Given the description of an element on the screen output the (x, y) to click on. 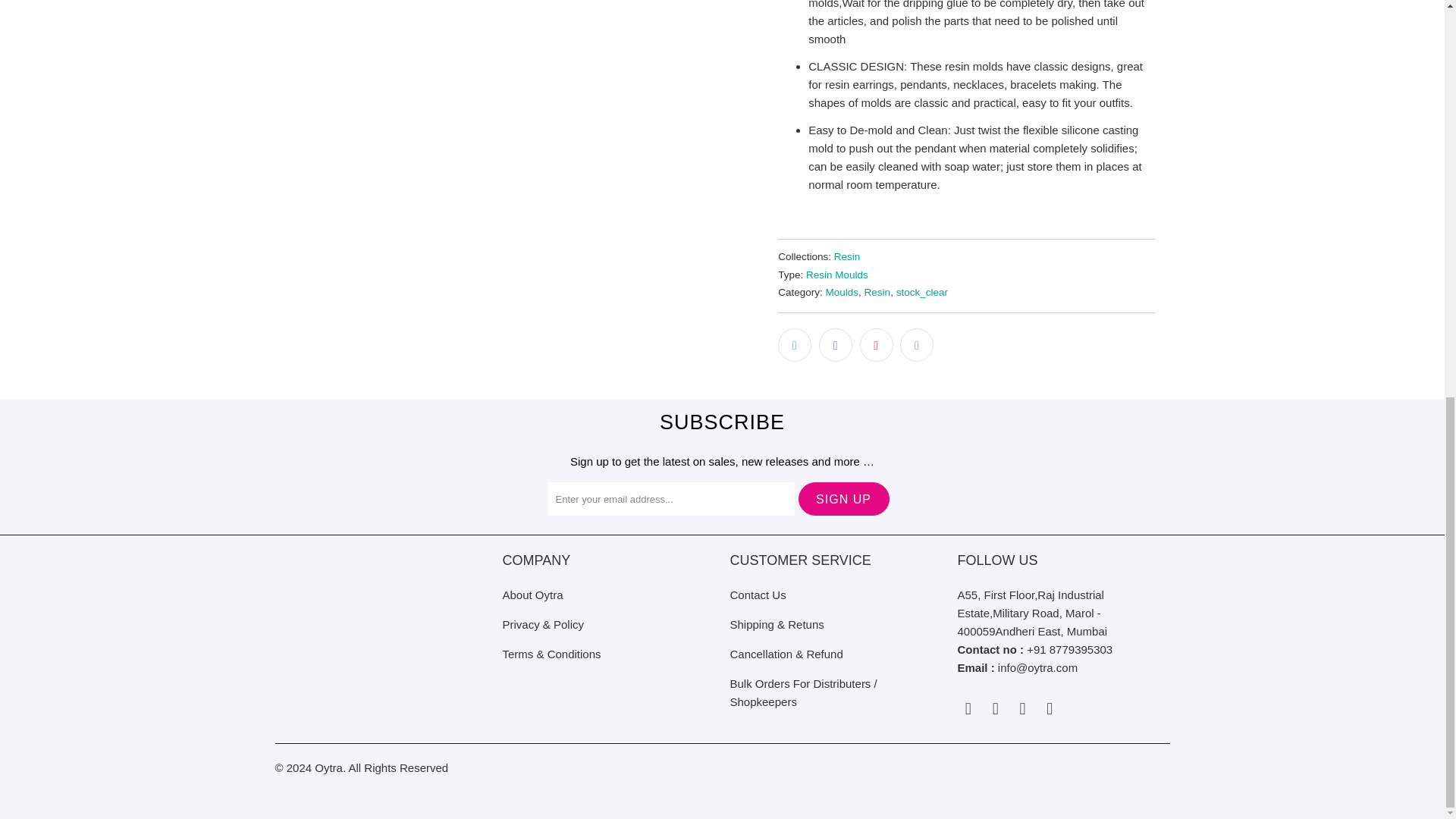
Share this on Pinterest (876, 344)
Share this on Facebook (834, 344)
Share this on Twitter (793, 344)
Resin (847, 256)
Sign Up (842, 498)
Products tagged Moulds (842, 292)
Resin Moulds (836, 274)
Products tagged Resin (877, 292)
